Given the description of an element on the screen output the (x, y) to click on. 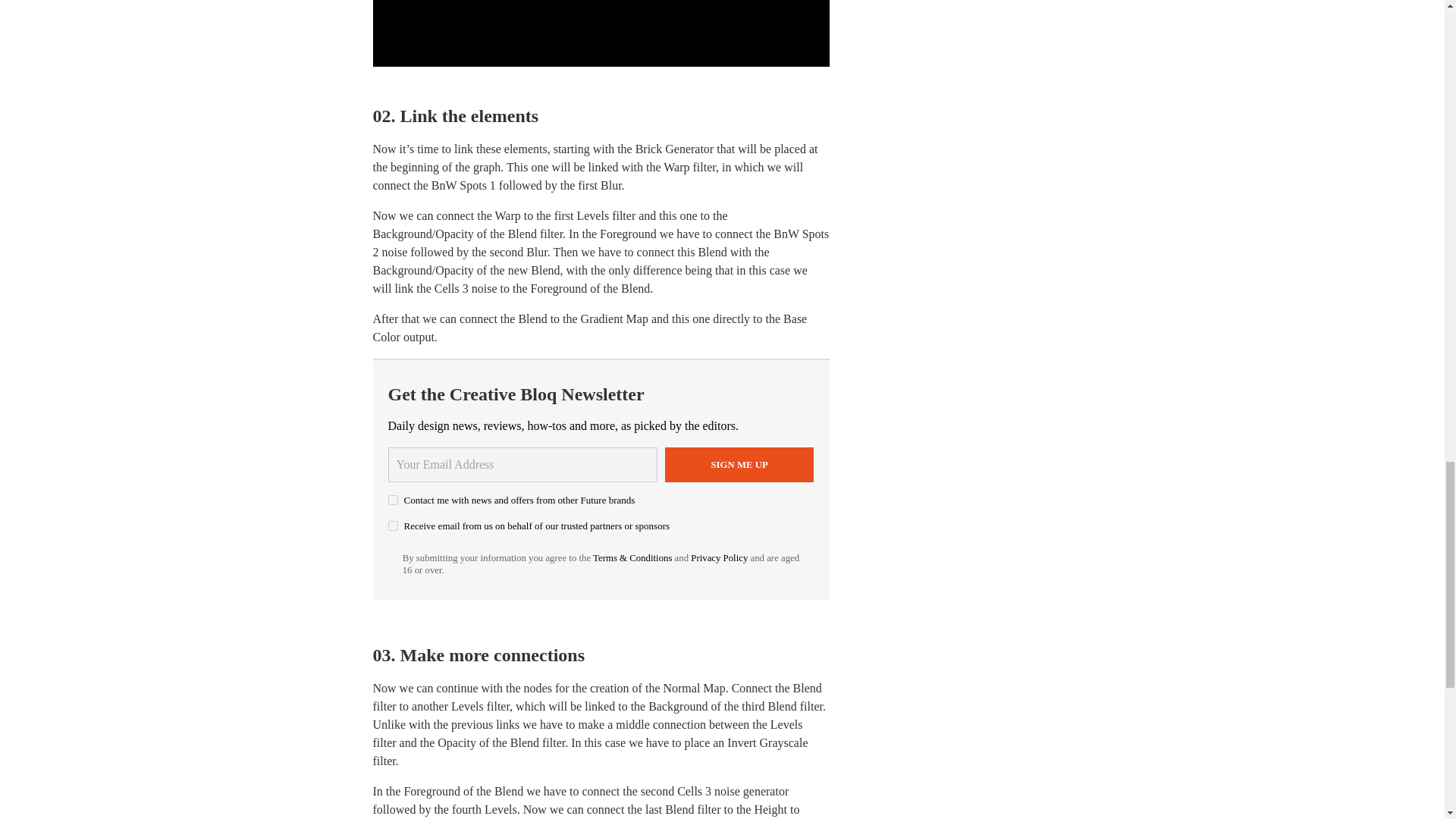
on (392, 500)
Sign me up (739, 464)
on (392, 524)
